Given the description of an element on the screen output the (x, y) to click on. 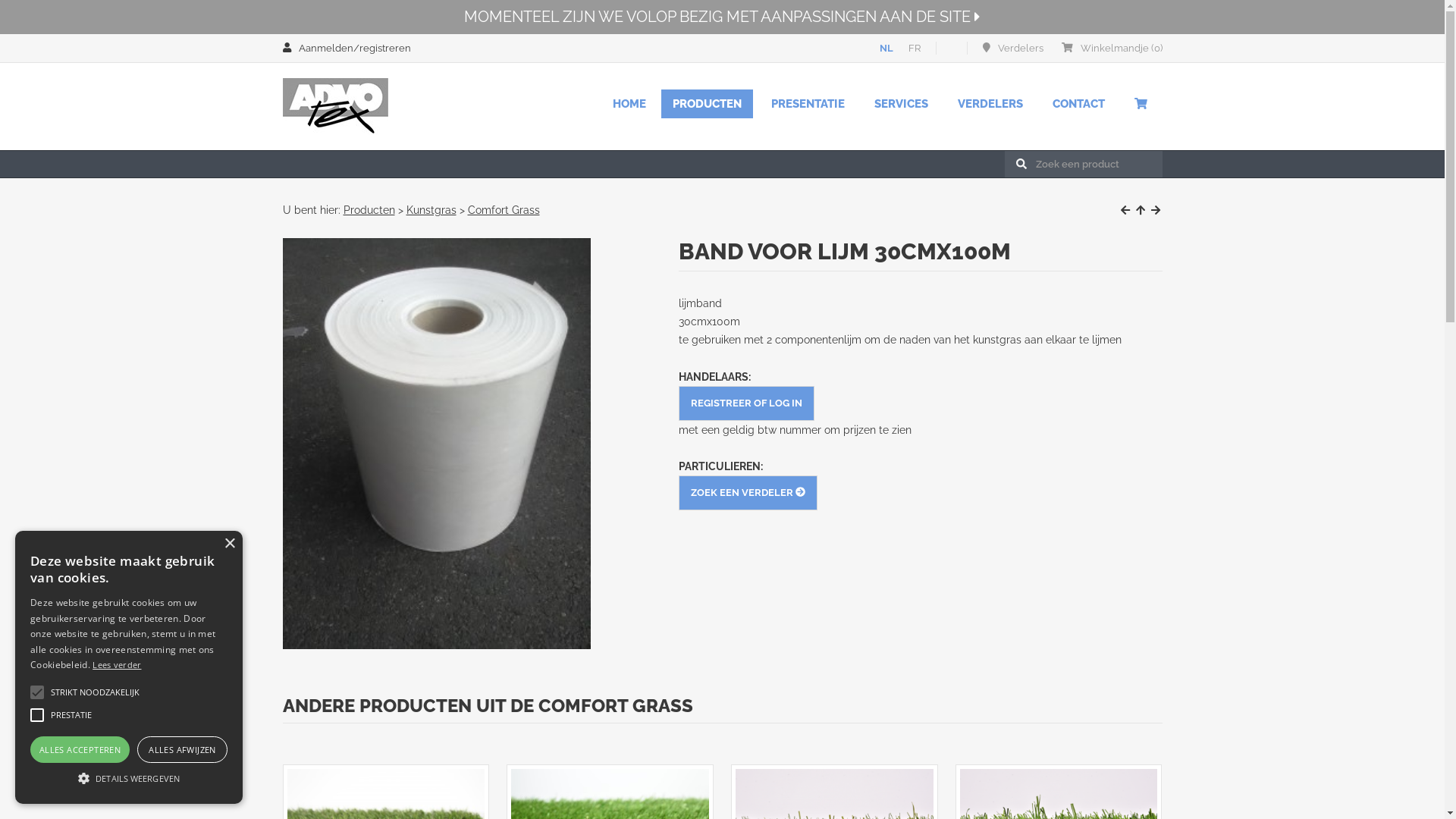
Advotex bv Element type: hover (334, 106)
CONTACT Element type: text (1078, 103)
Lees verder Element type: text (116, 664)
NL Element type: text (886, 48)
band voor lijm 30cmx100m Element type: hover (435, 443)
Kunstgras Element type: text (431, 209)
Bovenliggend niveau Element type: hover (1140, 209)
PRESENTATIE Element type: text (807, 103)
Comfort Grass Element type: text (503, 209)
Verdelers Element type: text (1012, 47)
Winkelmandje (0) Element type: text (1111, 47)
ZOEK EEN VERDELER Element type: text (746, 492)
Producten Element type: text (368, 209)
SERVICES Element type: text (900, 103)
HOME Element type: text (629, 103)
Vorig product Element type: hover (1124, 209)
Aanmelden/registreren Element type: text (346, 47)
REGISTREER OF LOG IN Element type: text (745, 402)
FR Element type: text (914, 48)
MOMENTEEL ZIJN WE VOLOP BEZIG MET AANPASSINGEN AAN DE SITE Element type: text (722, 17)
PRODUCTEN Element type: text (707, 103)
Volgend product Element type: hover (1155, 209)
VERDELERS Element type: text (990, 103)
